Given the description of an element on the screen output the (x, y) to click on. 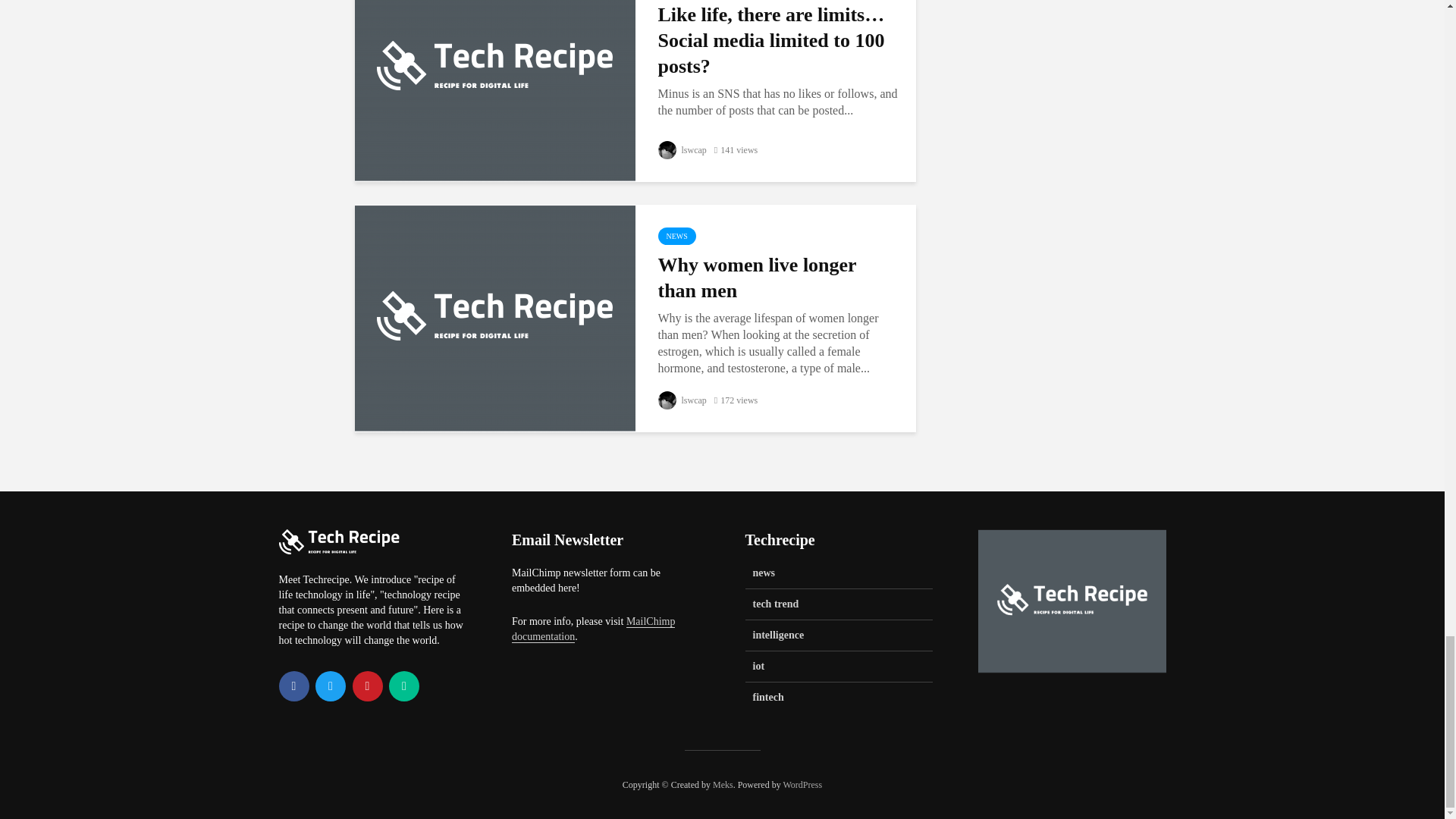
Why women live longer than men (494, 316)
NEWS (676, 235)
Why women live longer than men (778, 277)
lswcap (682, 149)
